Given the description of an element on the screen output the (x, y) to click on. 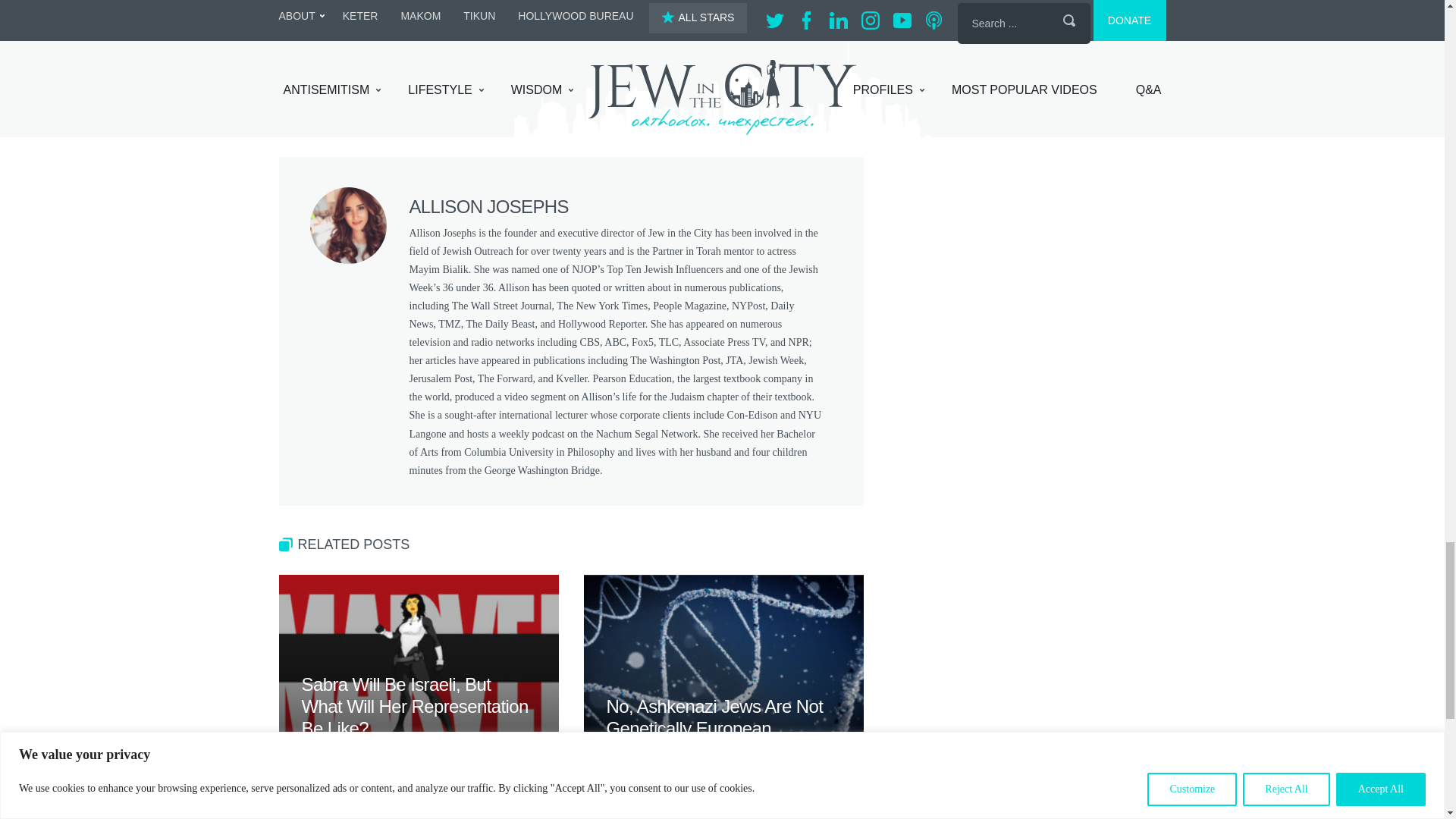
Post comment (354, 77)
